Given the description of an element on the screen output the (x, y) to click on. 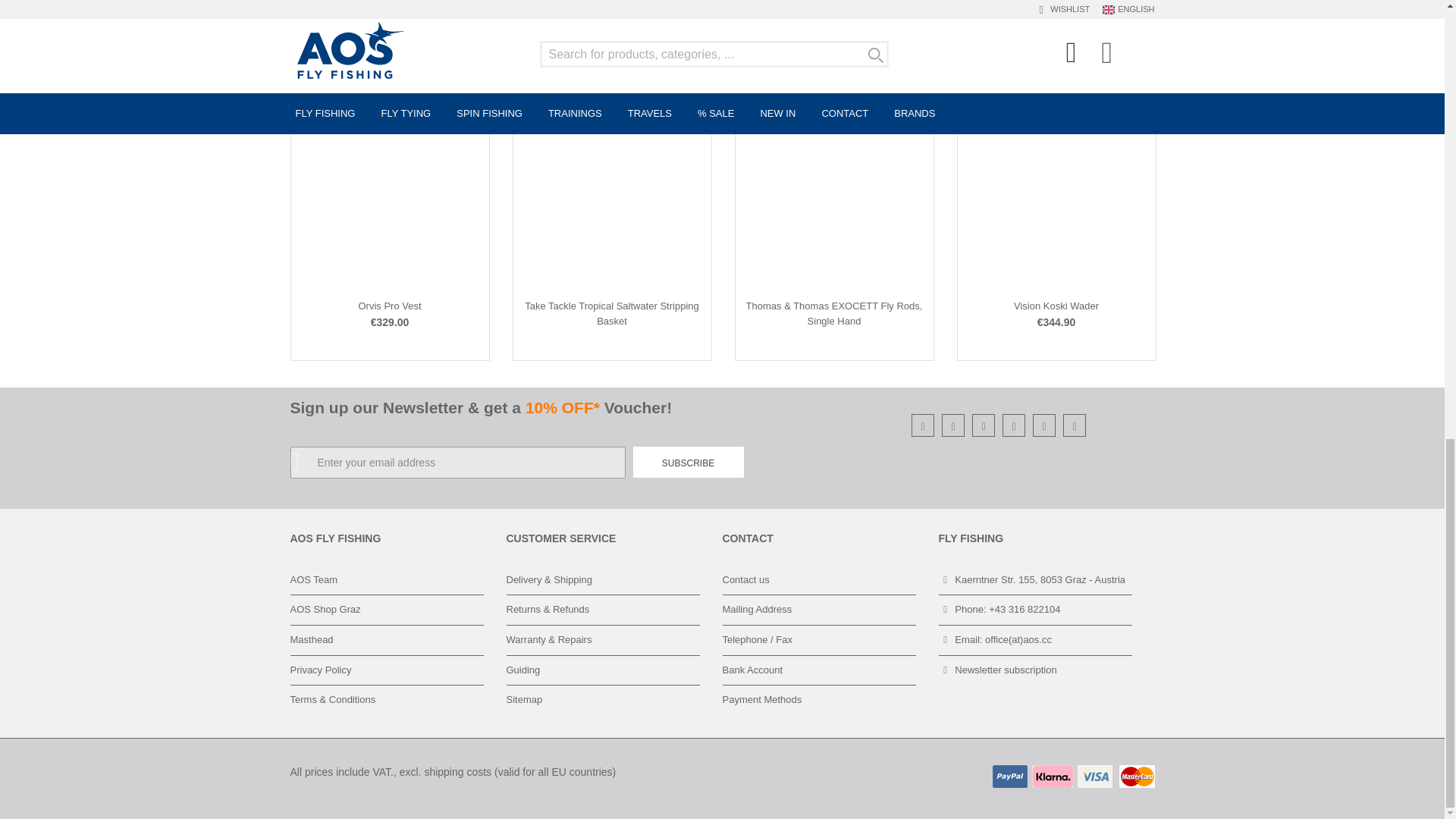
Orvis Pro Vest (389, 306)
Take Tackle Tropical Saltwater Stripping Basket (611, 313)
Vision Koski Wader (1056, 306)
